Given the description of an element on the screen output the (x, y) to click on. 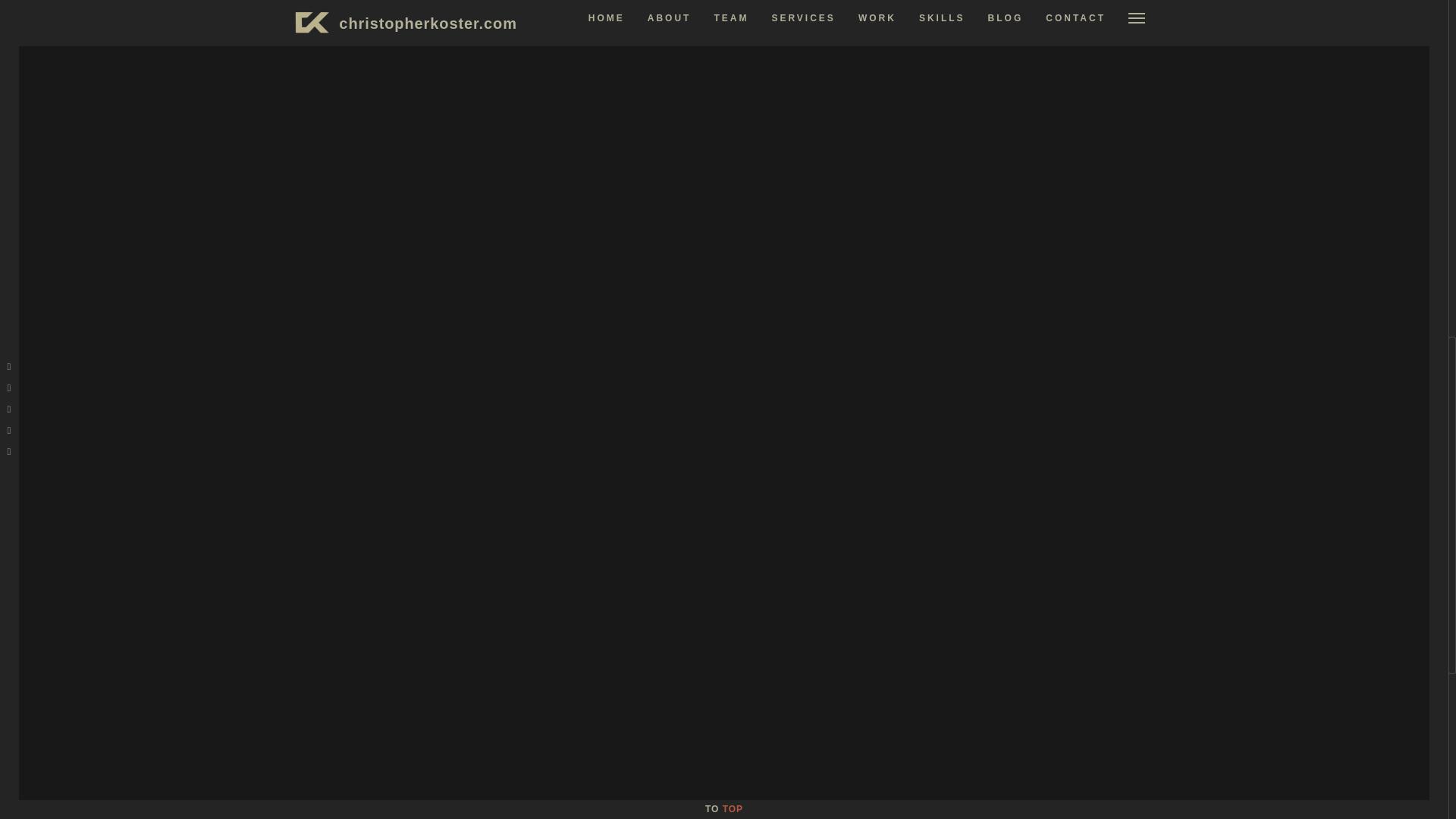
Sunday (1128, 492)
Monday (968, 492)
Wednesday (1022, 492)
Tuesday (995, 492)
Thursday (1048, 492)
Friday (1074, 492)
Saturday (1101, 492)
